Given the description of an element on the screen output the (x, y) to click on. 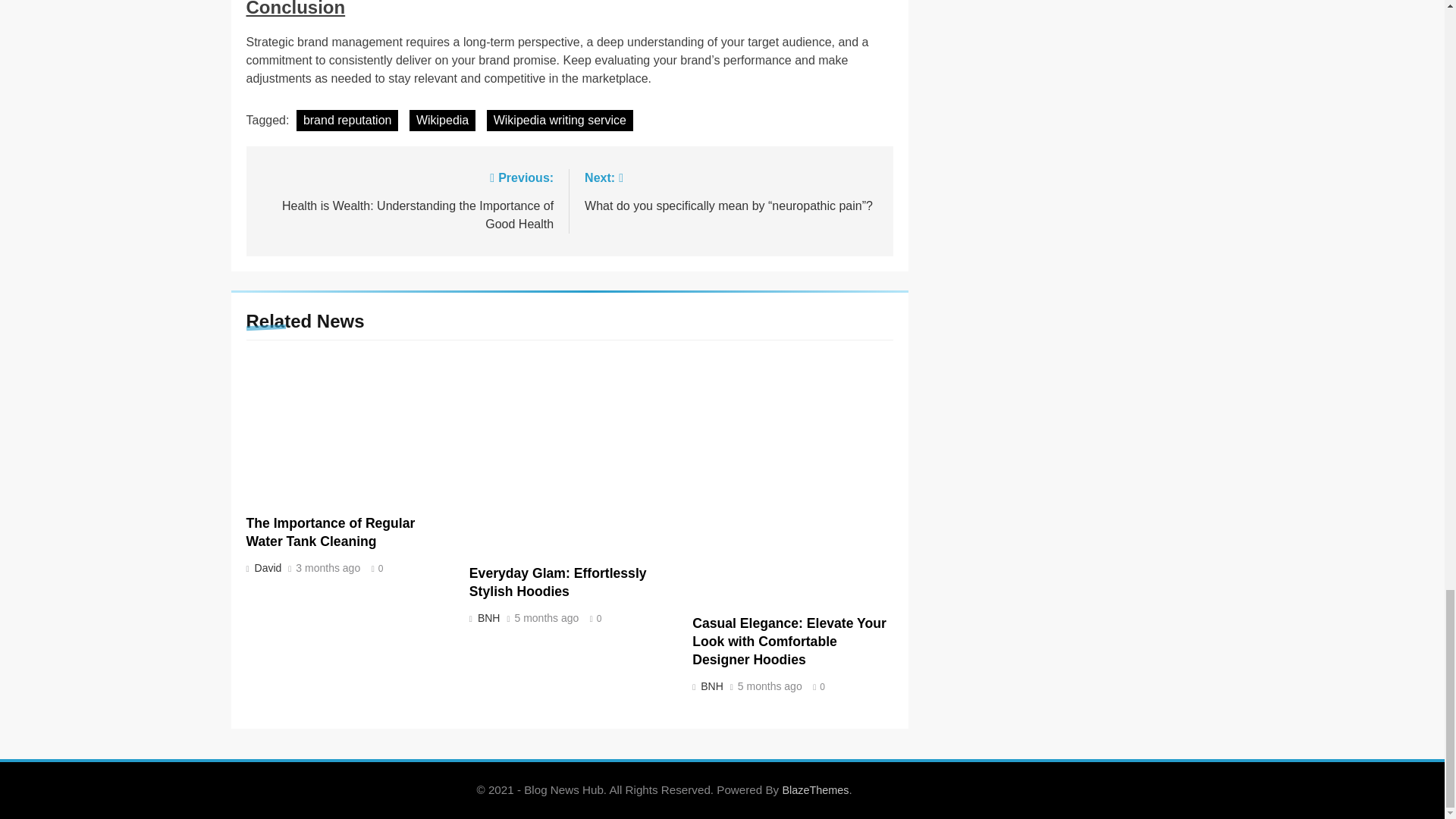
David (266, 567)
Everyday Glam: Effortlessly Stylish Hoodies (557, 581)
3 months ago (327, 568)
Wikipedia (442, 120)
BNH (711, 686)
BNH (486, 617)
5 months ago (770, 686)
The Importance of Regular Water Tank Cleaning (330, 531)
Wikipedia writing service (559, 120)
brand reputation (347, 120)
5 months ago (545, 618)
